Given the description of an element on the screen output the (x, y) to click on. 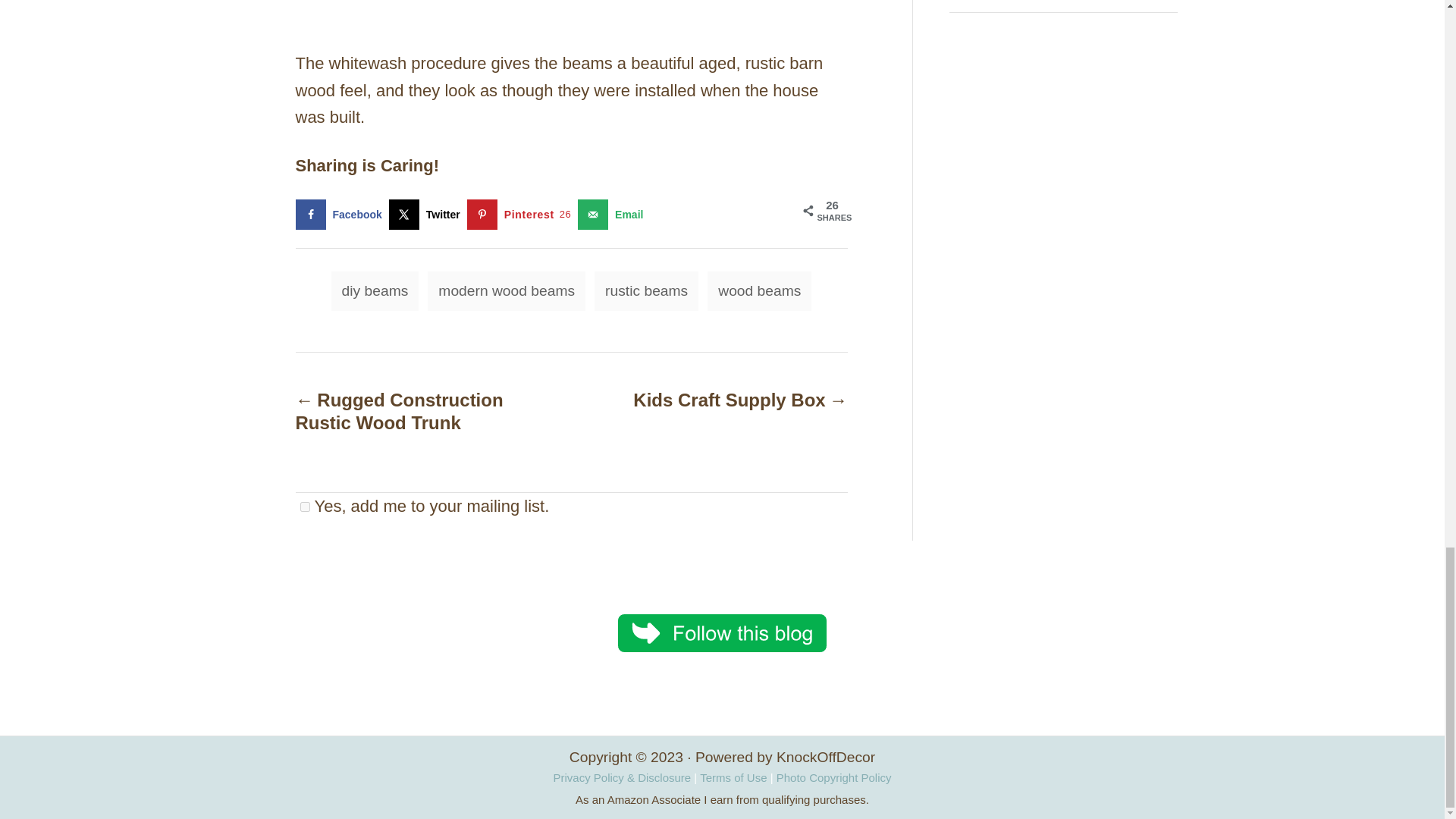
Send over email (613, 214)
Share on Facebook (341, 214)
Save to Pinterest (522, 214)
Share on X (427, 214)
1 (304, 506)
